Given the description of an element on the screen output the (x, y) to click on. 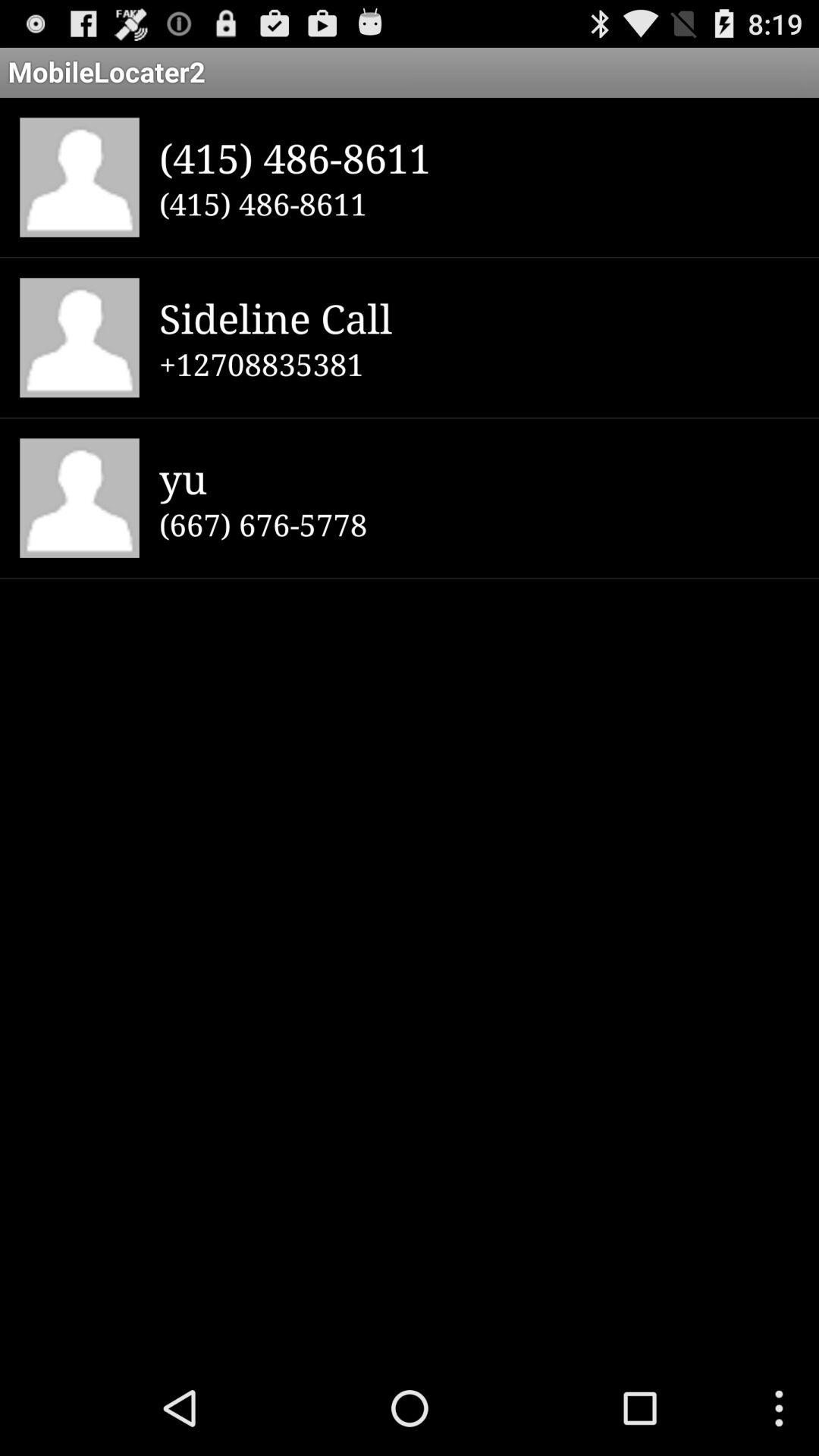
tap the yu icon (479, 478)
